Given the description of an element on the screen output the (x, y) to click on. 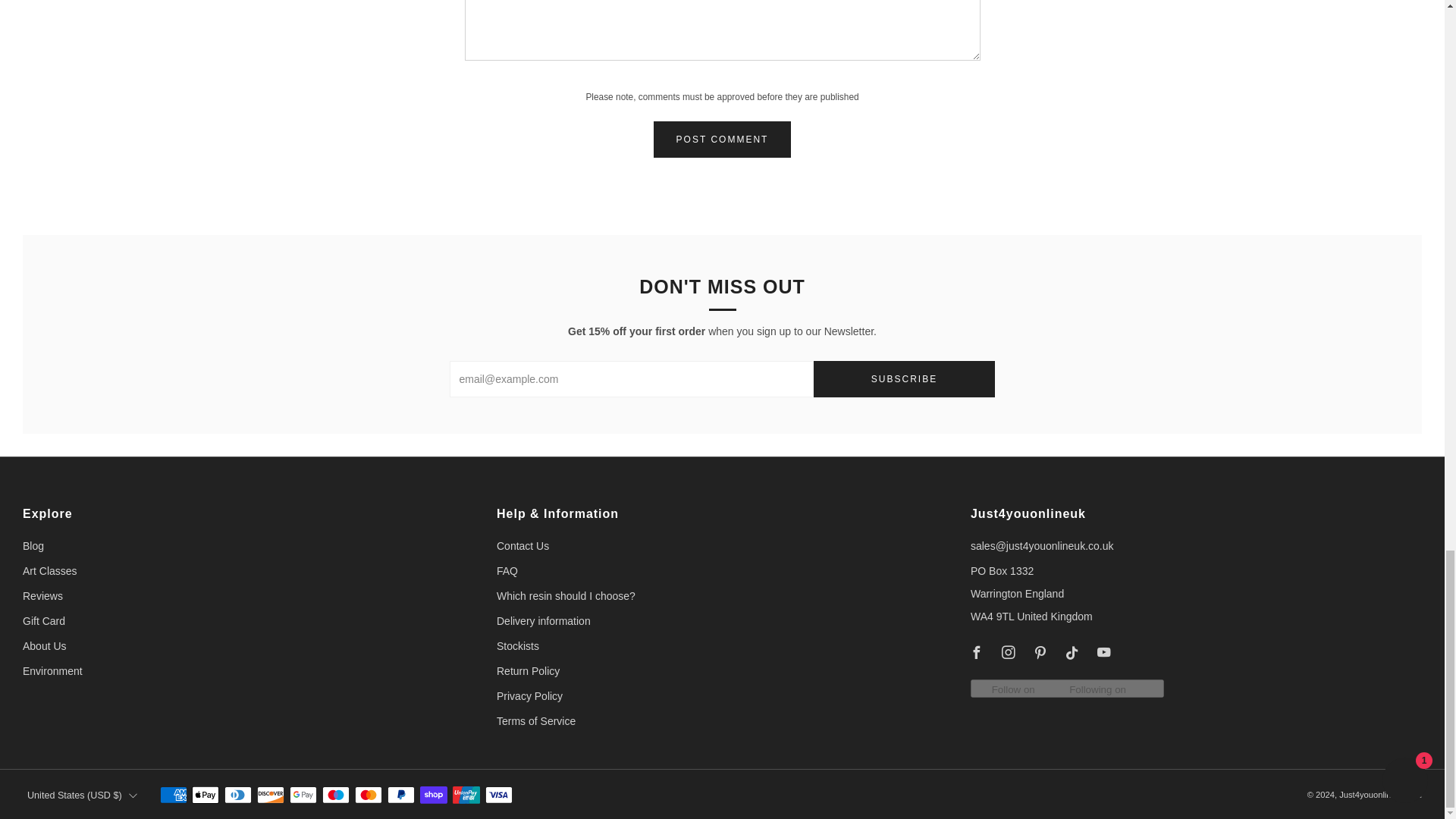
Post comment (722, 139)
